Given the description of an element on the screen output the (x, y) to click on. 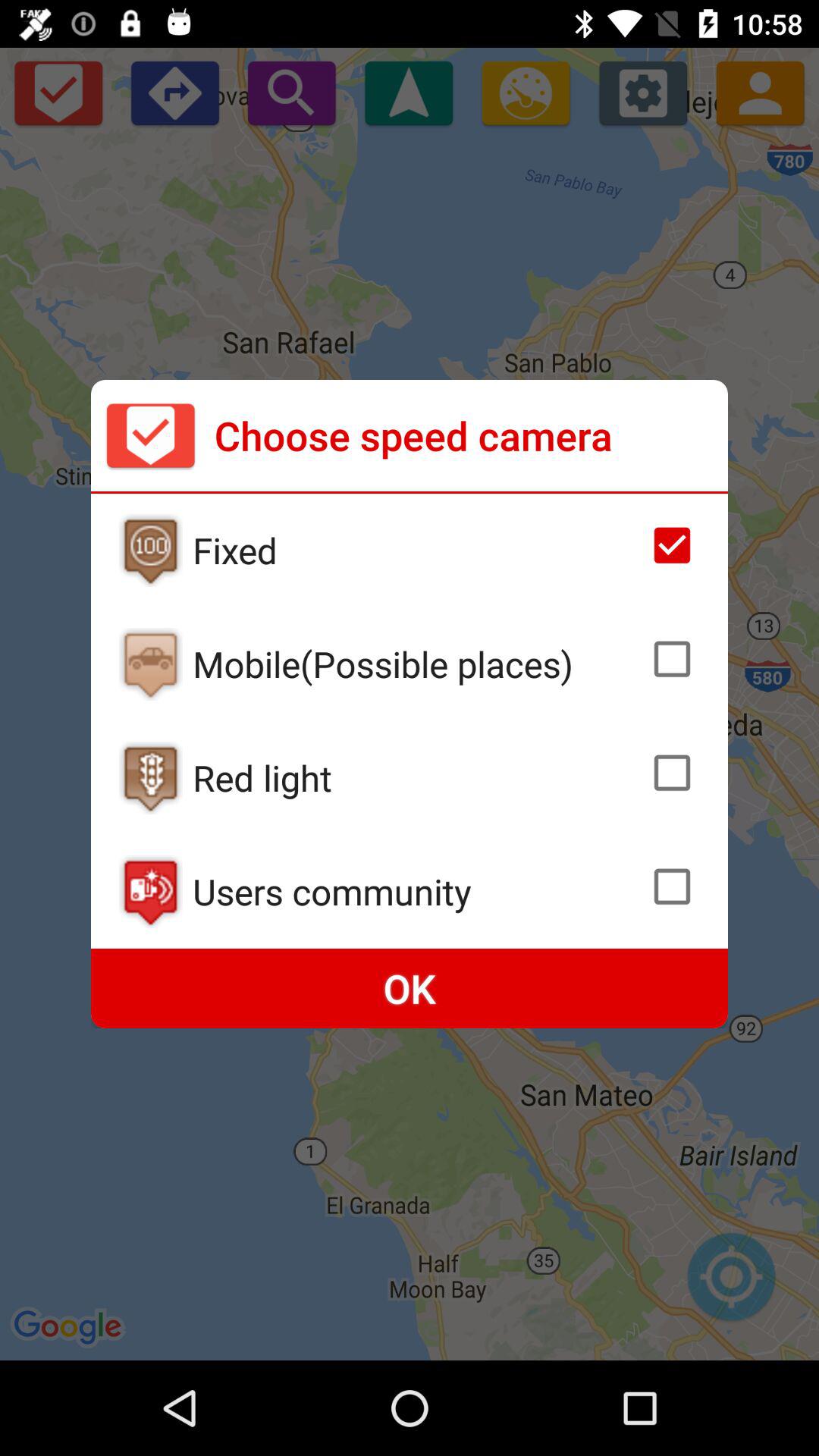
press the ok icon (409, 988)
